Given the description of an element on the screen output the (x, y) to click on. 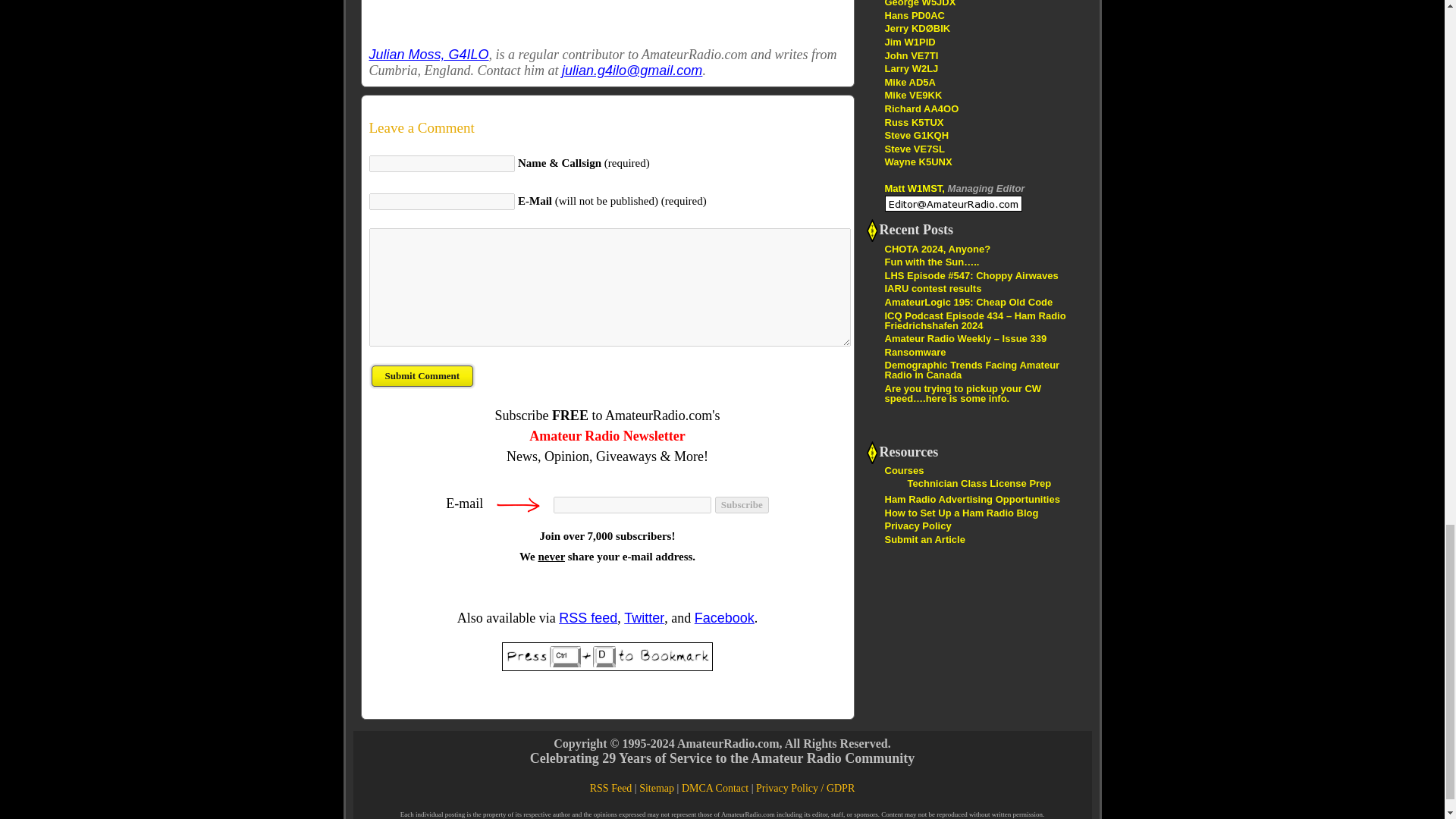
Subscribe (741, 504)
Submit Comment (422, 376)
Entertain, Encourage, Educate and Inspire (916, 28)
Homebrewing and Operating Adventures From 2200m To Nanowaves (913, 148)
Linux in the Ham Shack Podcast in MP3 Format (913, 121)
Lower your Power  Raise your Expectations (920, 108)
Twitter (643, 617)
Facebook (724, 617)
Subscribe (741, 504)
MY HAM RADIO EXPERIENCES (908, 81)
Leave a Comment (606, 127)
Submit Comment (422, 376)
Thoughts of a Dutch radio amateur (913, 15)
